Given the description of an element on the screen output the (x, y) to click on. 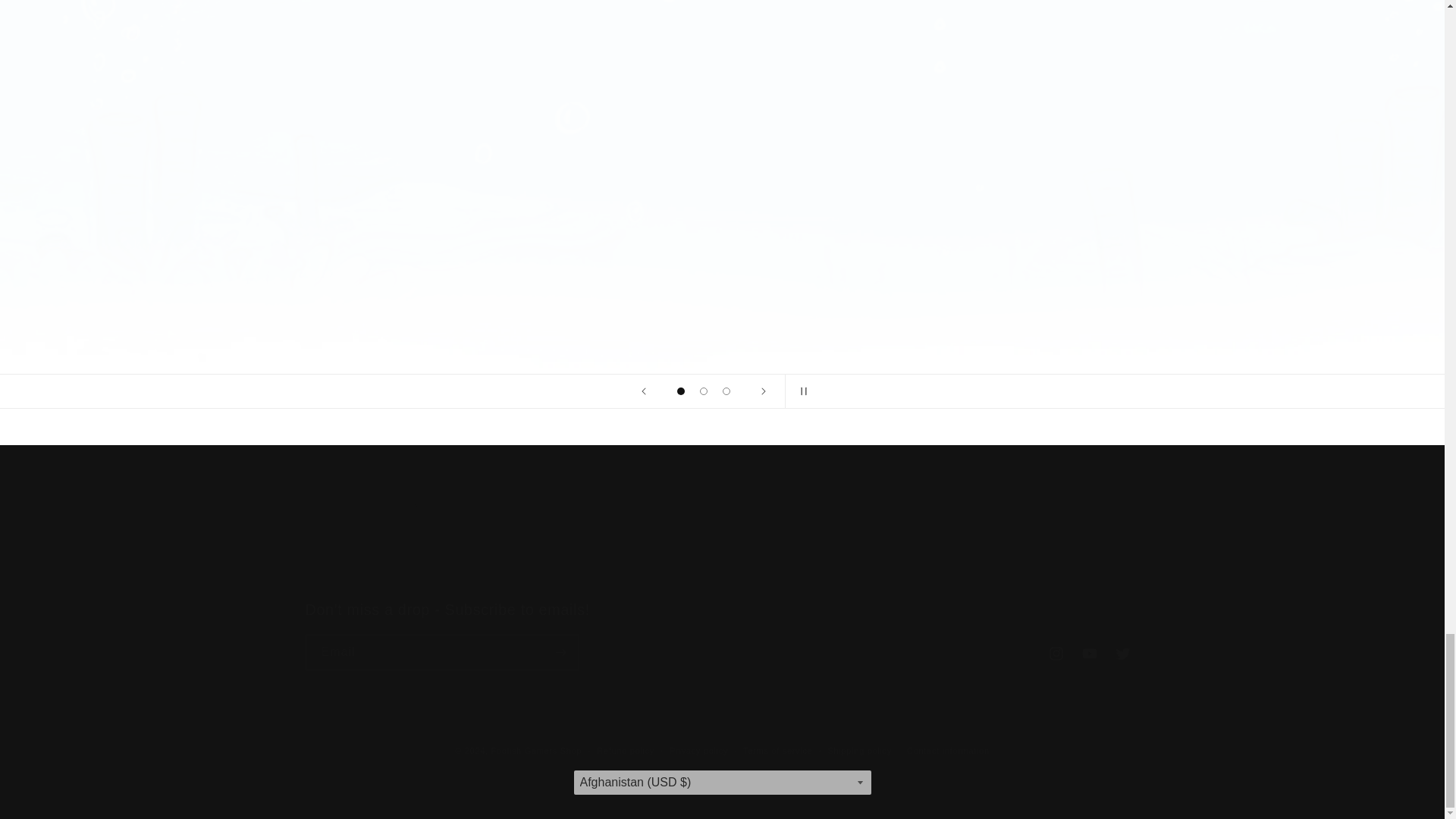
Contact Us (722, 547)
Contact Us (905, 546)
